Given the description of an element on the screen output the (x, y) to click on. 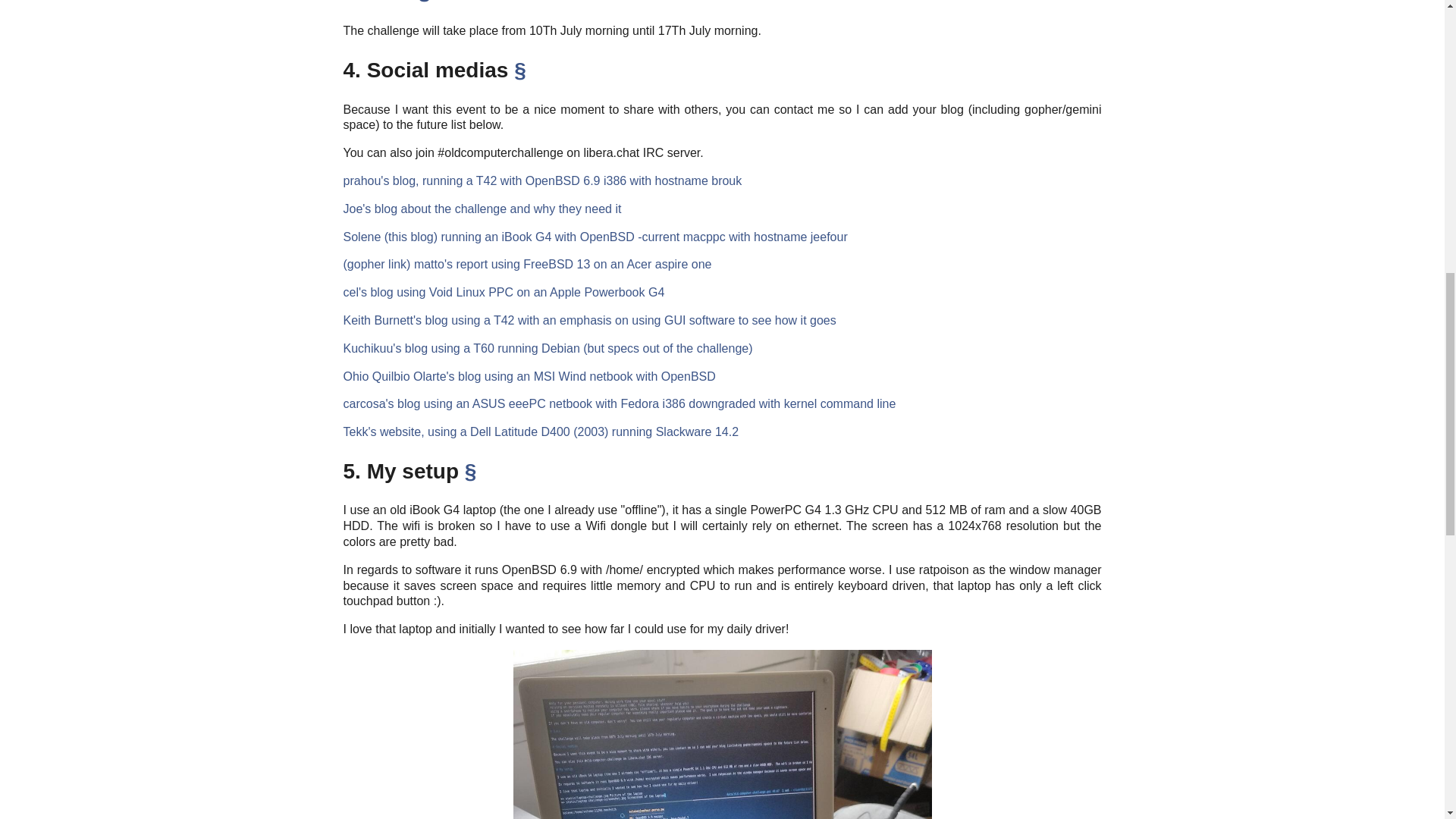
Picture of the laptop (721, 734)
cel's blog using Void Linux PPC on an Apple Powerbook G4 (502, 291)
Joe's blog about the challenge and why they need it (481, 208)
